Given the description of an element on the screen output the (x, y) to click on. 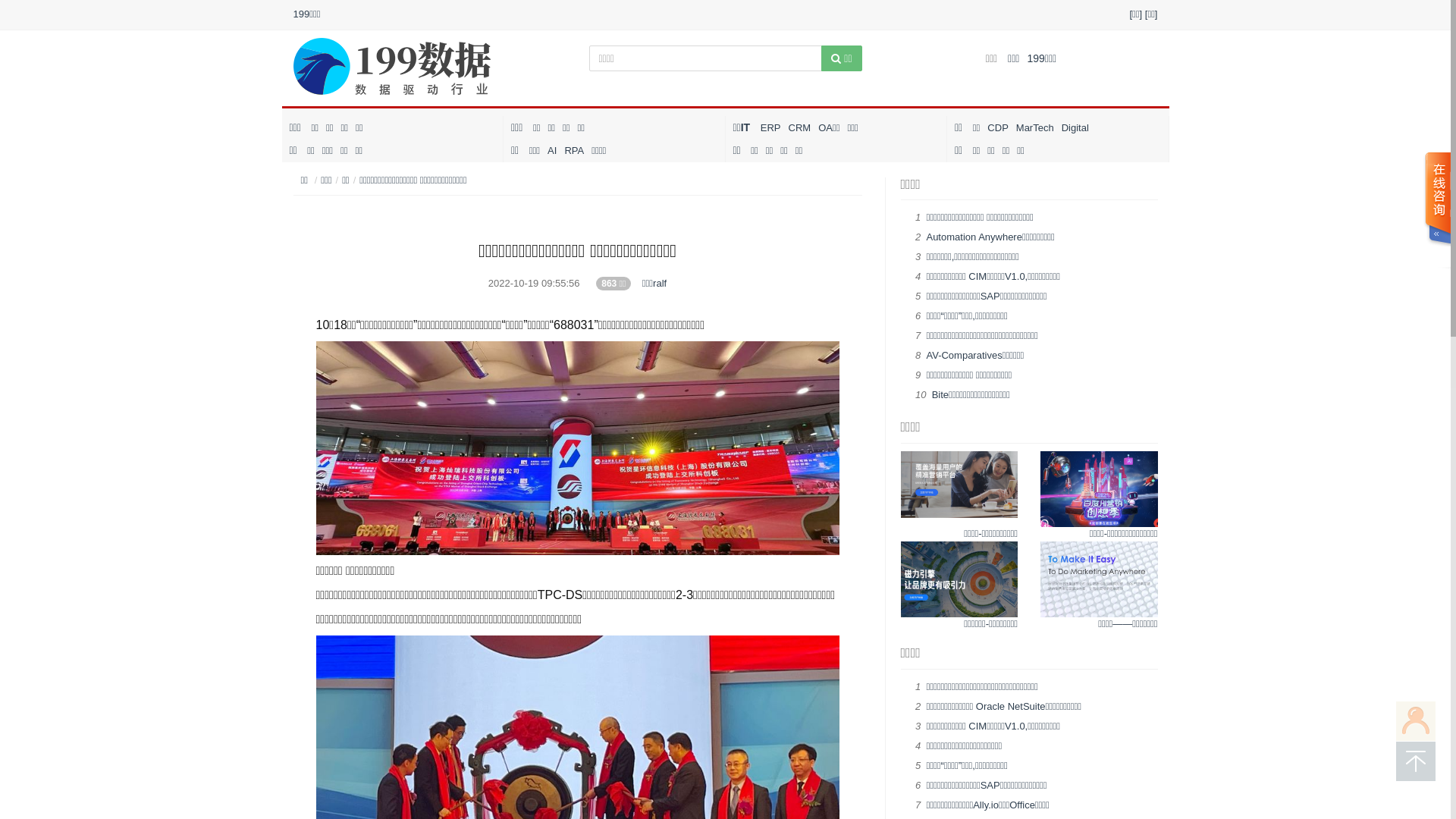
CDP Element type: text (997, 127)
RPA Element type: text (573, 150)
ERP Element type: text (770, 127)
Digital Element type: text (1074, 127)
CRM Element type: text (799, 127)
MarTech Element type: text (1035, 127)
AI Element type: text (551, 150)
  Element type: text (1436, 210)
